Given the description of an element on the screen output the (x, y) to click on. 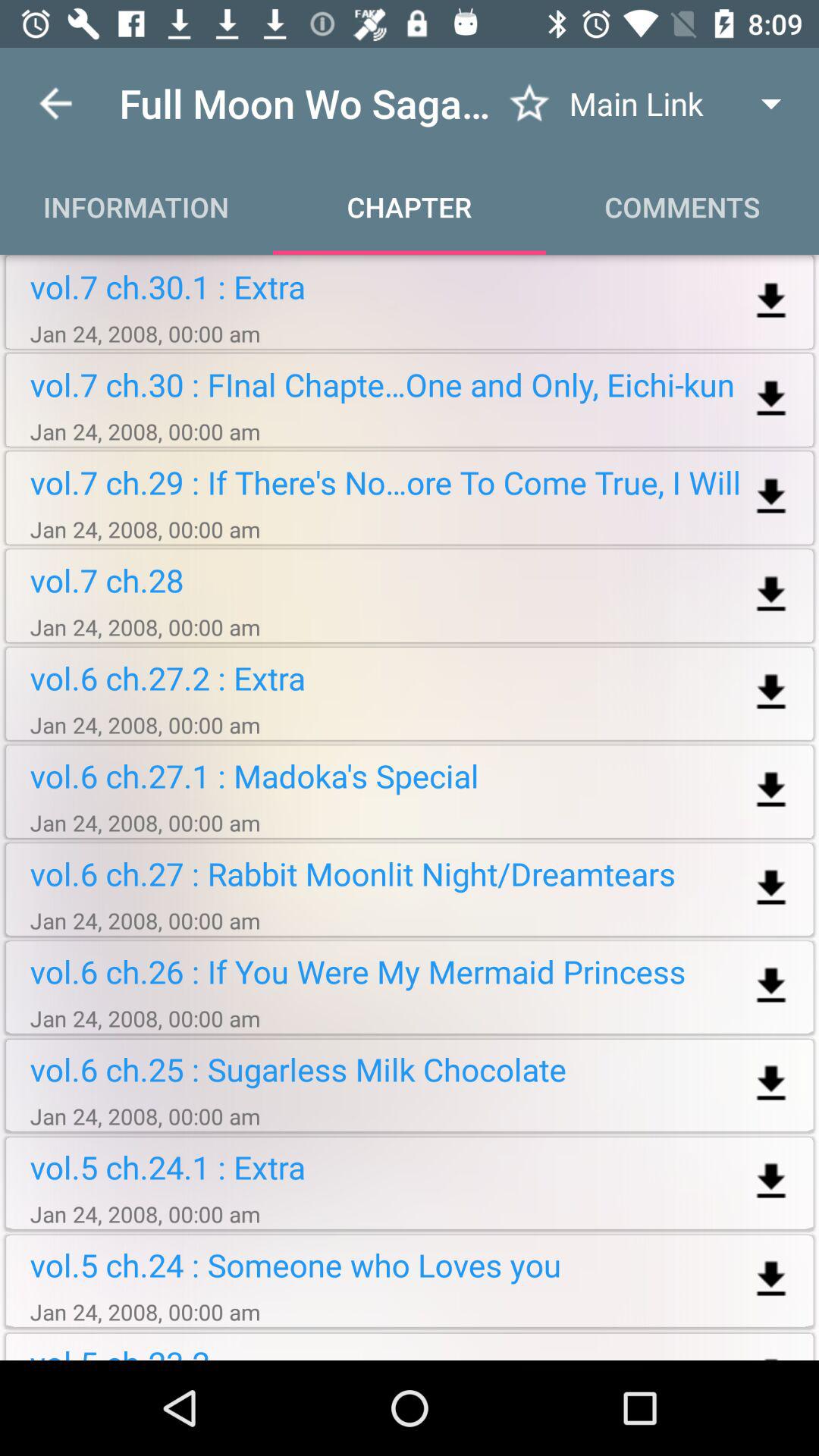
select download (771, 496)
